Given the description of an element on the screen output the (x, y) to click on. 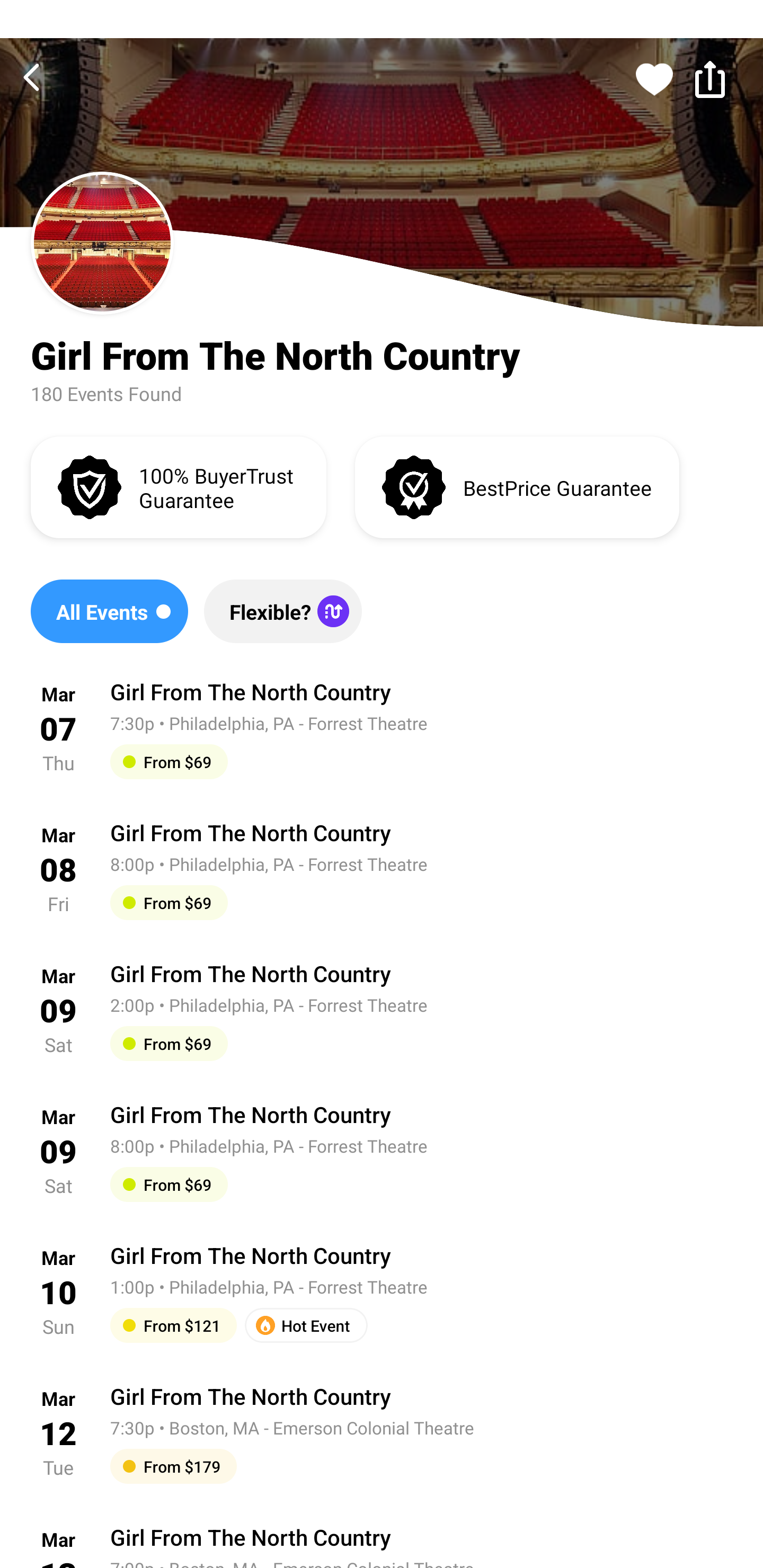
100% BuyerTrust Guarantee (178, 486)
BestPrice Guarantee (516, 486)
All Events (109, 611)
Flexible? (282, 611)
